Given the description of an element on the screen output the (x, y) to click on. 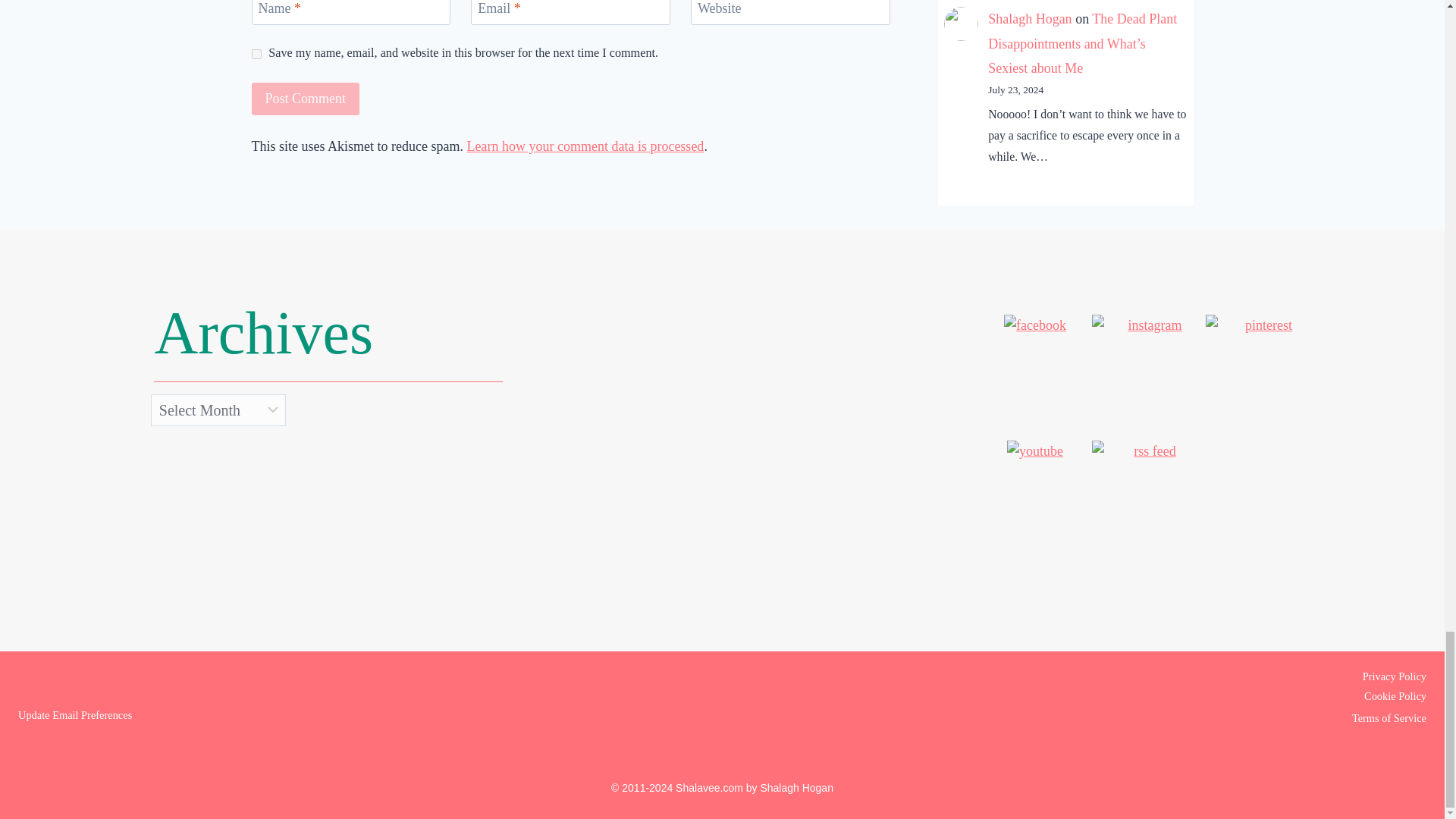
Post Comment (305, 98)
yes (256, 53)
